Given the description of an element on the screen output the (x, y) to click on. 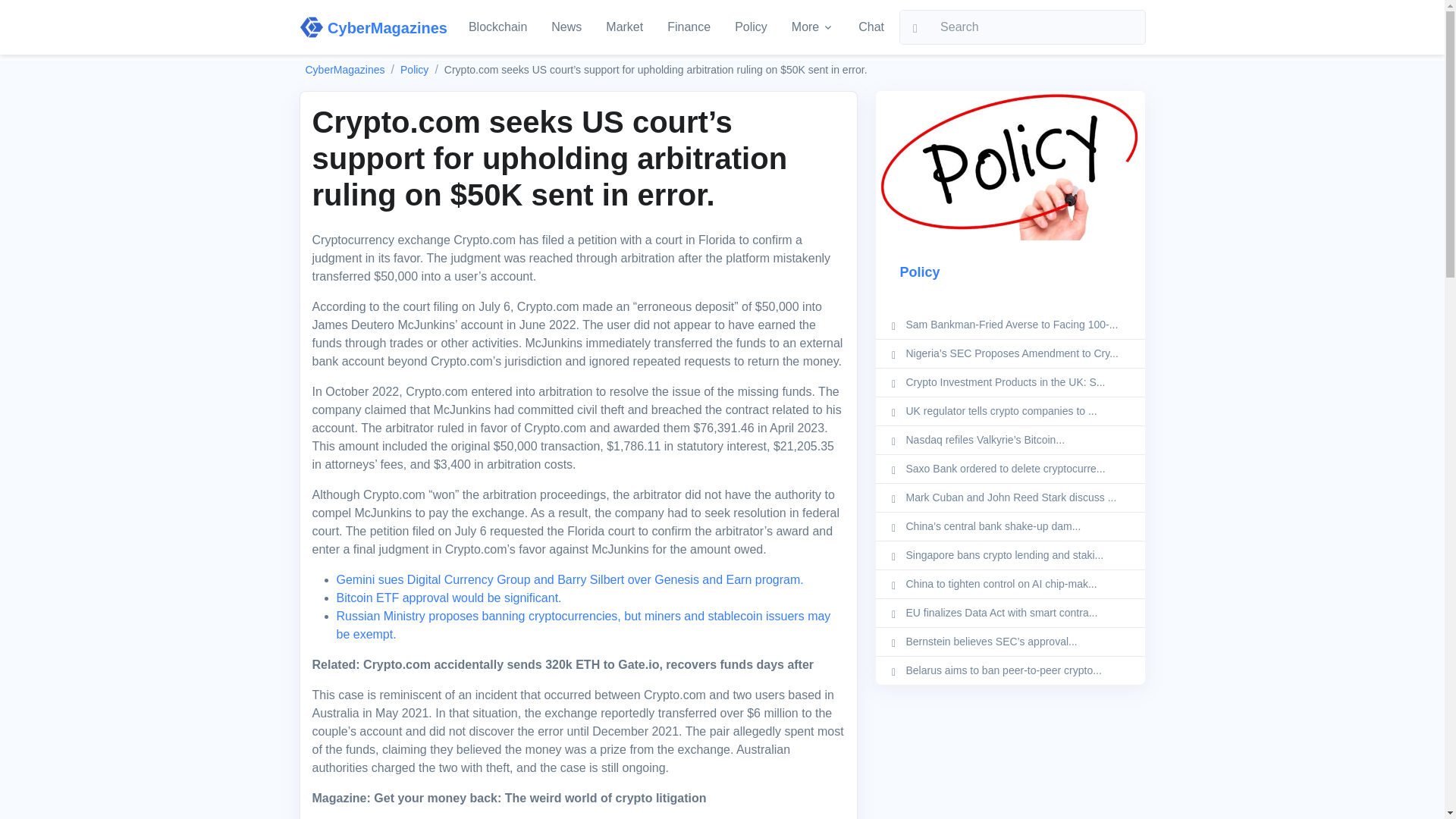
Blockchain (497, 26)
Policy (414, 69)
More (813, 26)
Bitcoin ETF approval would be significant. (449, 597)
CyberMagazines (372, 27)
Market (624, 26)
Finance (688, 26)
Policy (750, 26)
News (566, 26)
